Given the description of an element on the screen output the (x, y) to click on. 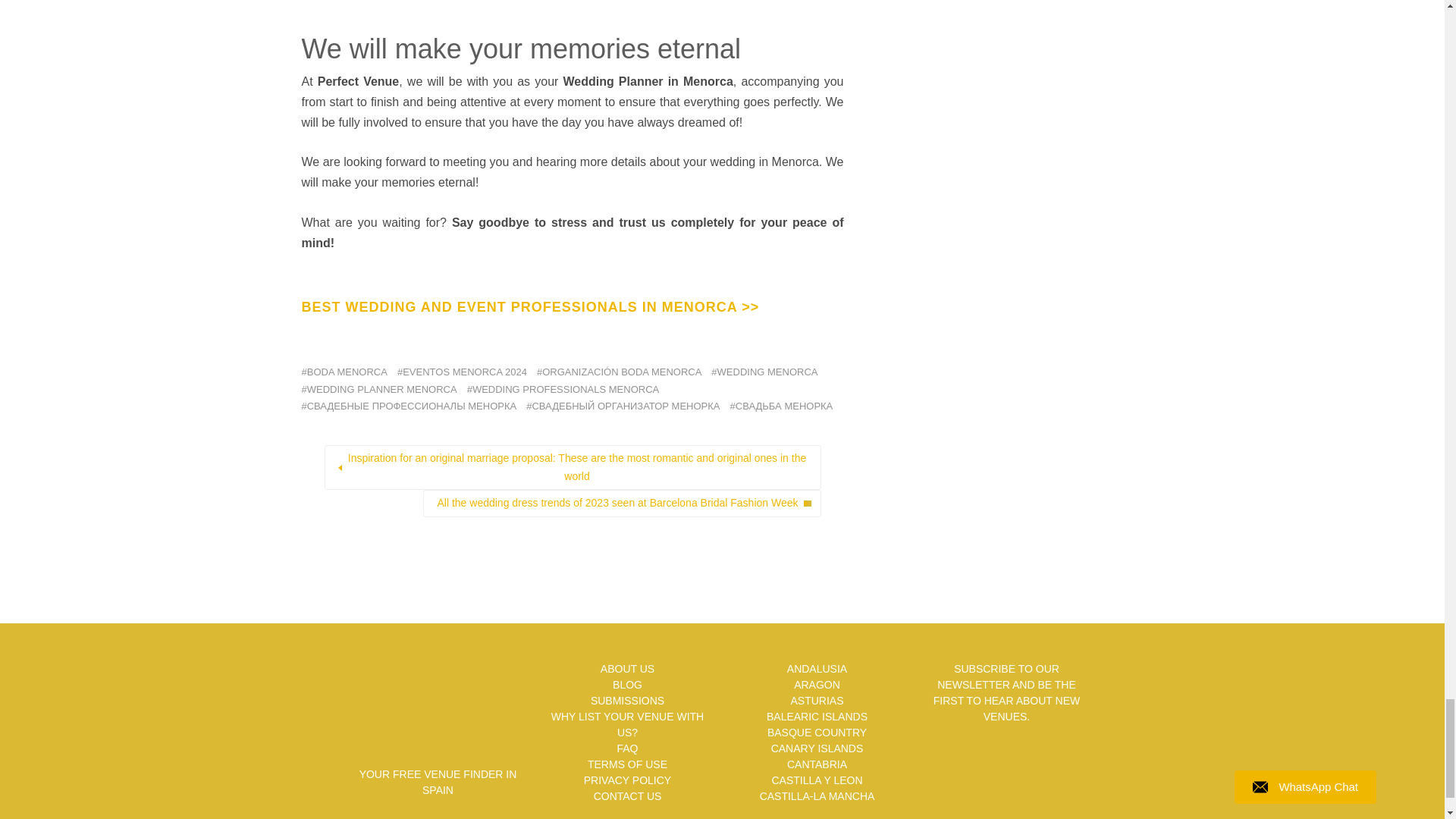
BODA MENORCA (344, 371)
WEDDING PROFESSIONALS MENORCA (563, 389)
EVENTOS MENORCA 2024 (462, 371)
WEDDING PLANNER MENORCA (379, 389)
WEDDING MENORCA (763, 371)
